Given the description of an element on the screen output the (x, y) to click on. 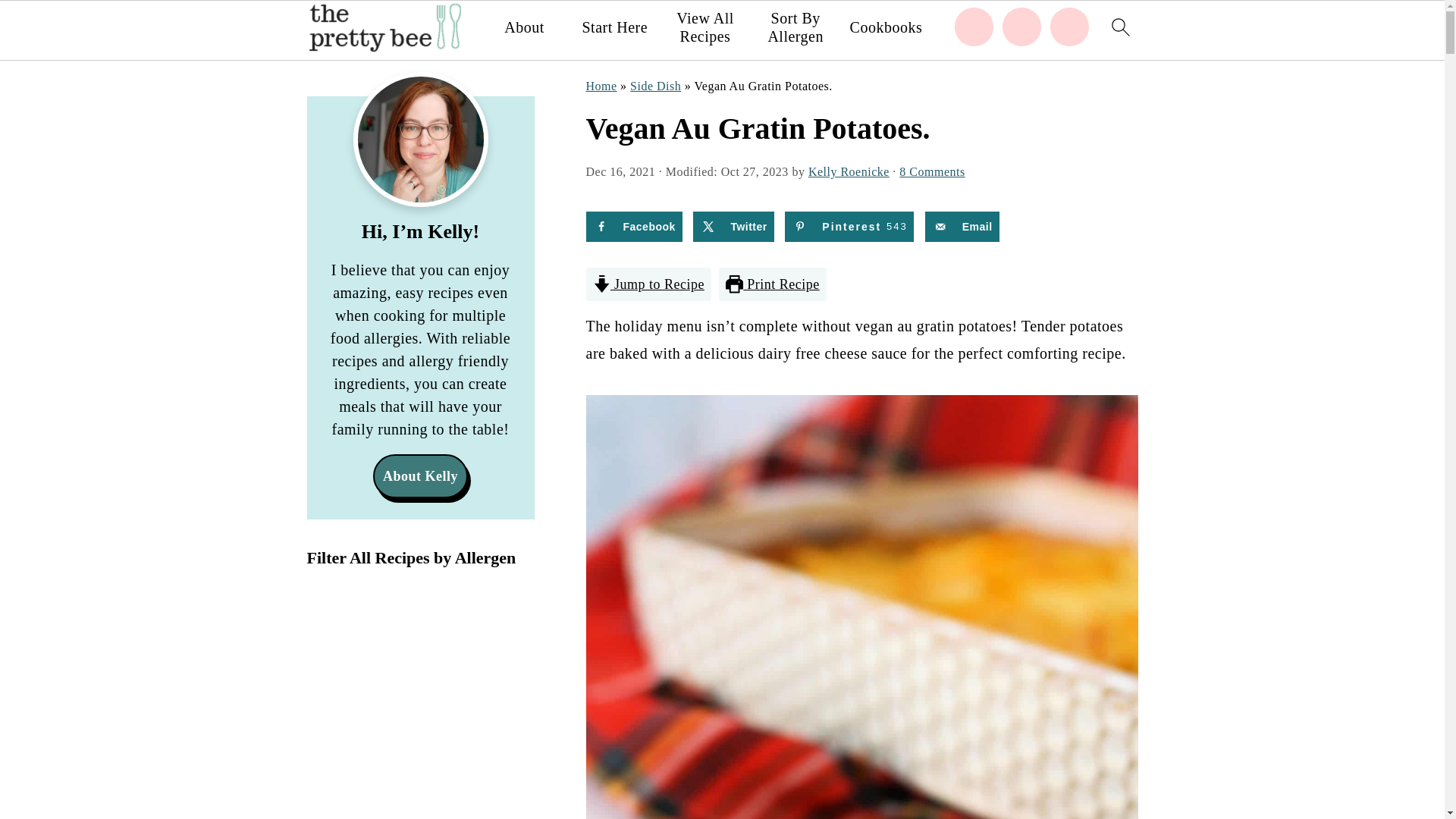
View All Recipes (705, 27)
Start Here (613, 27)
Email (961, 226)
Print Recipe (773, 284)
About (523, 27)
Kelly Roenicke (848, 171)
search icon (1119, 30)
Sort By Allergen (795, 27)
Home (600, 85)
Jump to Recipe (647, 284)
Send over email (961, 226)
search icon (1119, 26)
Share on Facebook (633, 226)
